Given the description of an element on the screen output the (x, y) to click on. 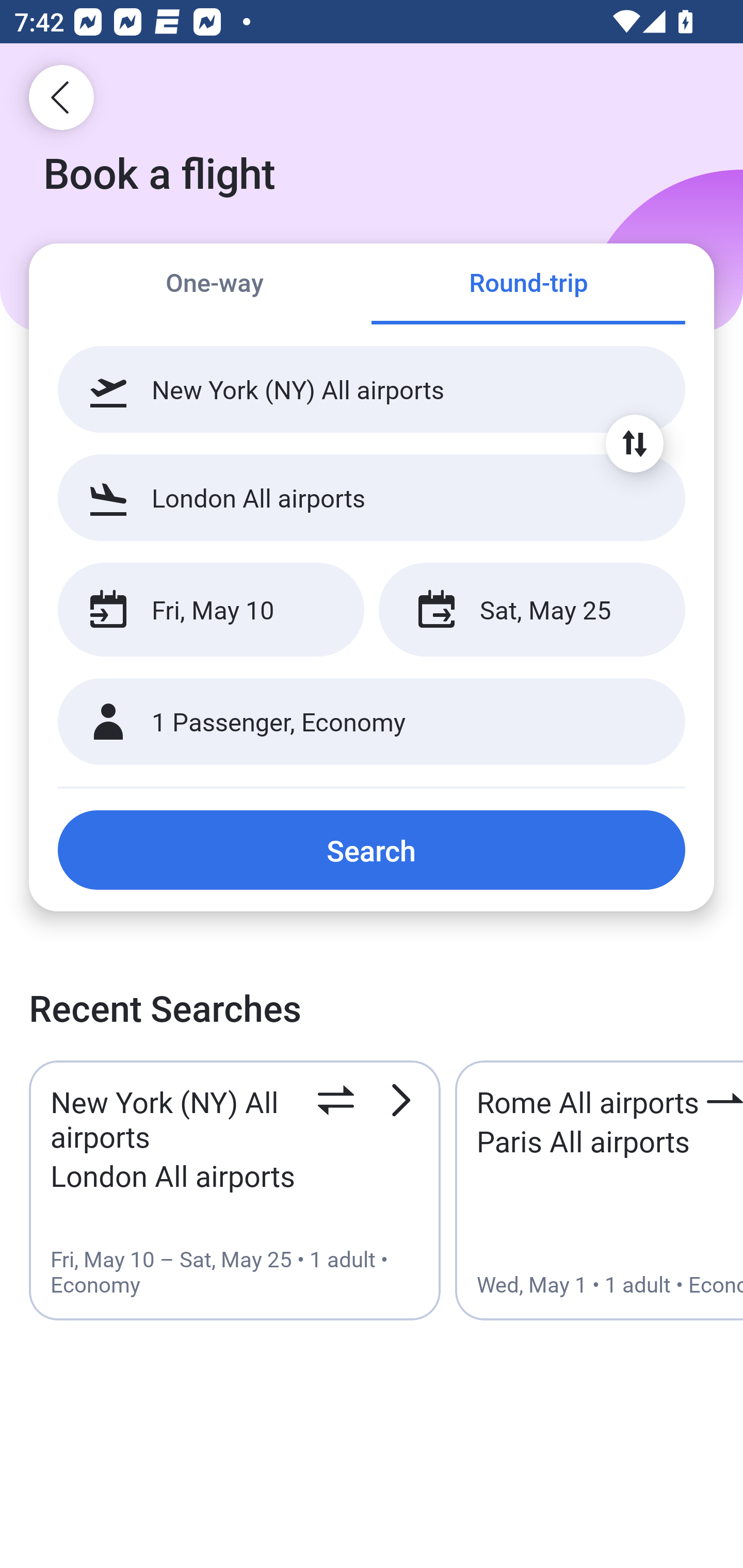
One-way (214, 284)
New York (NY) All airports (371, 389)
London All airports (371, 497)
Fri, May 10 (210, 609)
Sat, May 25 (531, 609)
1 Passenger, Economy (371, 721)
Search (371, 849)
